Given the description of an element on the screen output the (x, y) to click on. 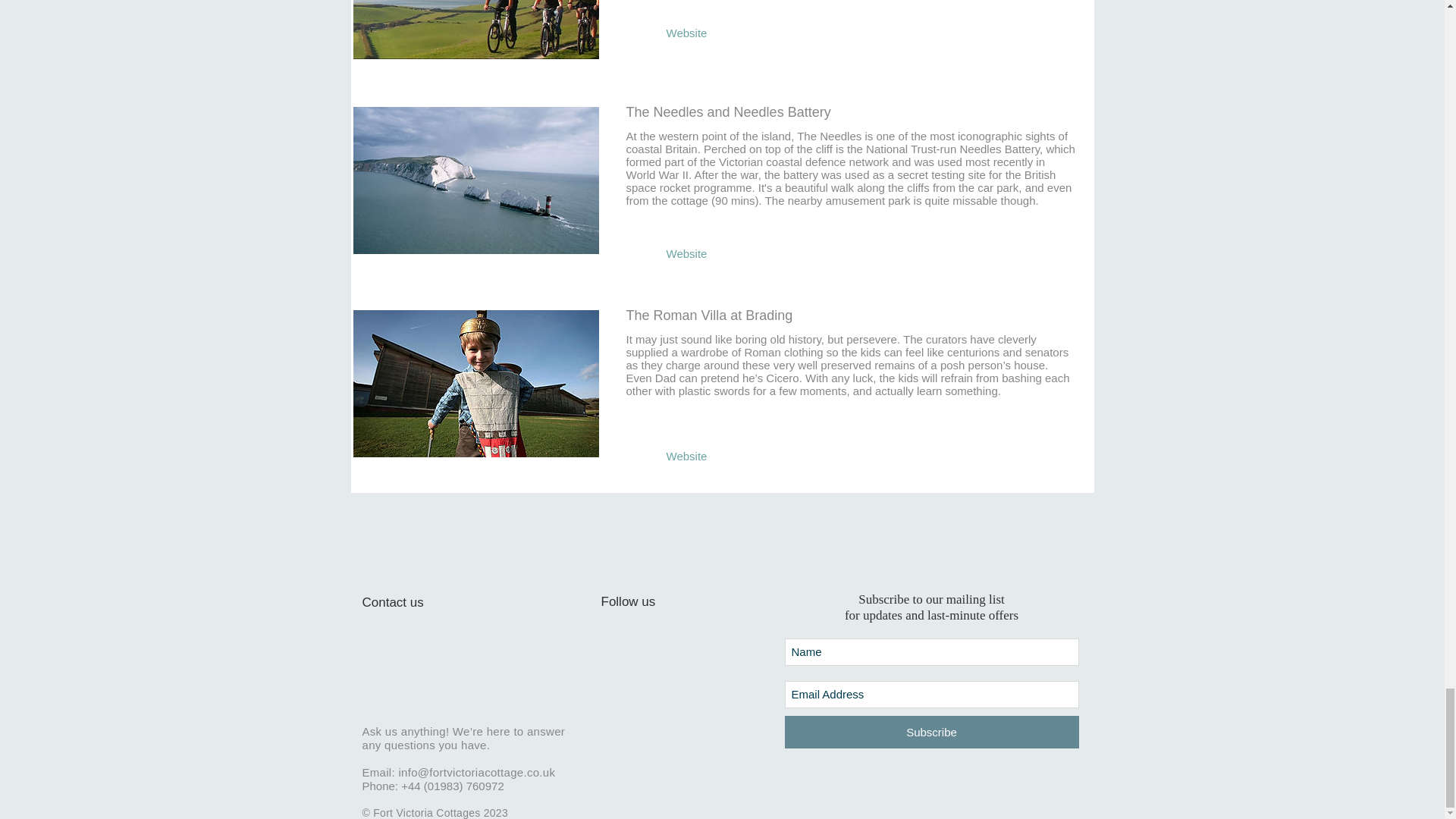
Brading Roman Villa (474, 383)
Website (687, 456)
Contact us (419, 602)
Website (687, 253)
Mountain biking on the Isle of Wight (474, 30)
The Needles (474, 180)
Subscribe (931, 731)
Website (687, 32)
